Given the description of an element on the screen output the (x, y) to click on. 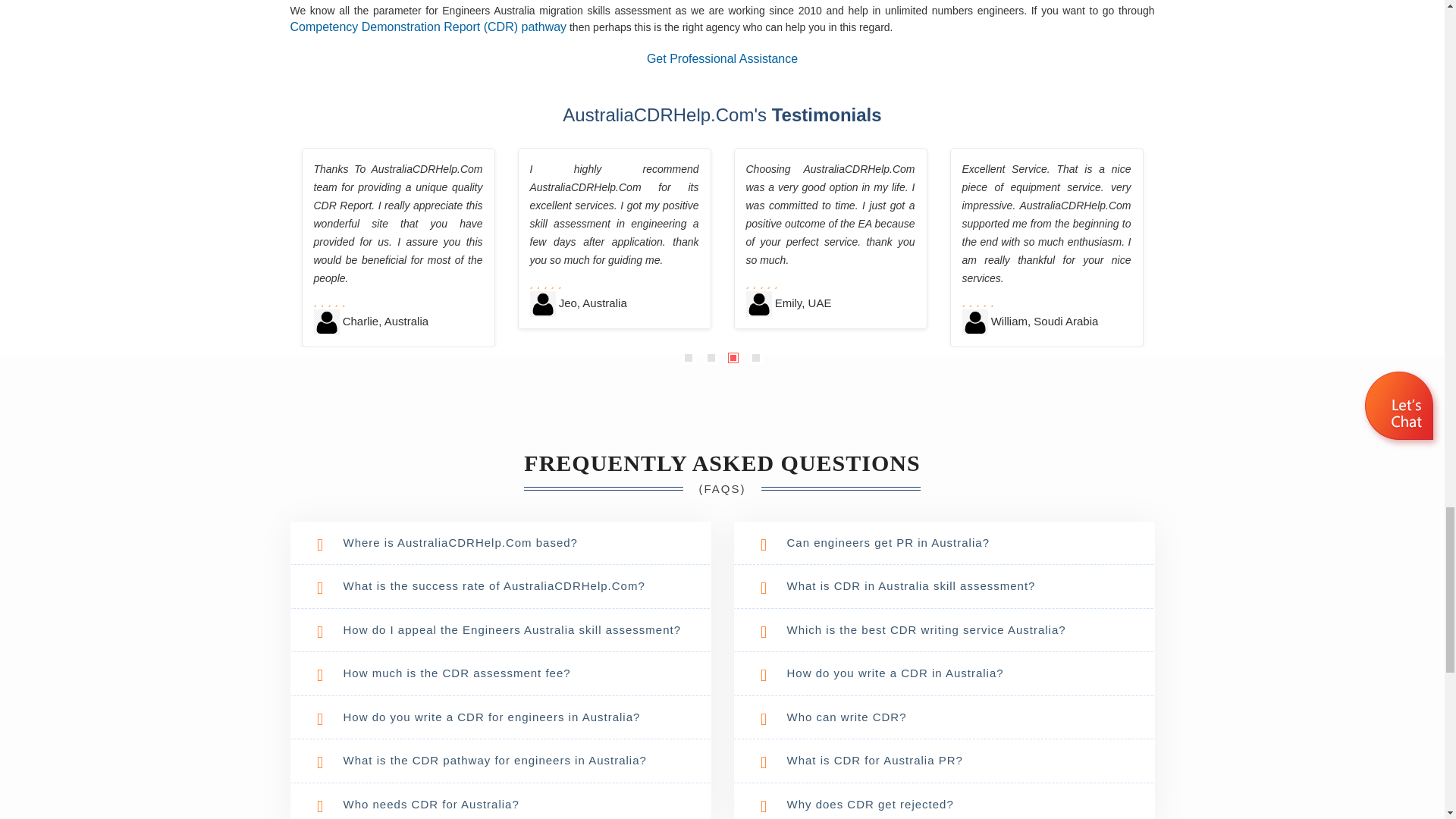
User (758, 303)
User (973, 321)
User (541, 303)
User (326, 321)
